Given the description of an element on the screen output the (x, y) to click on. 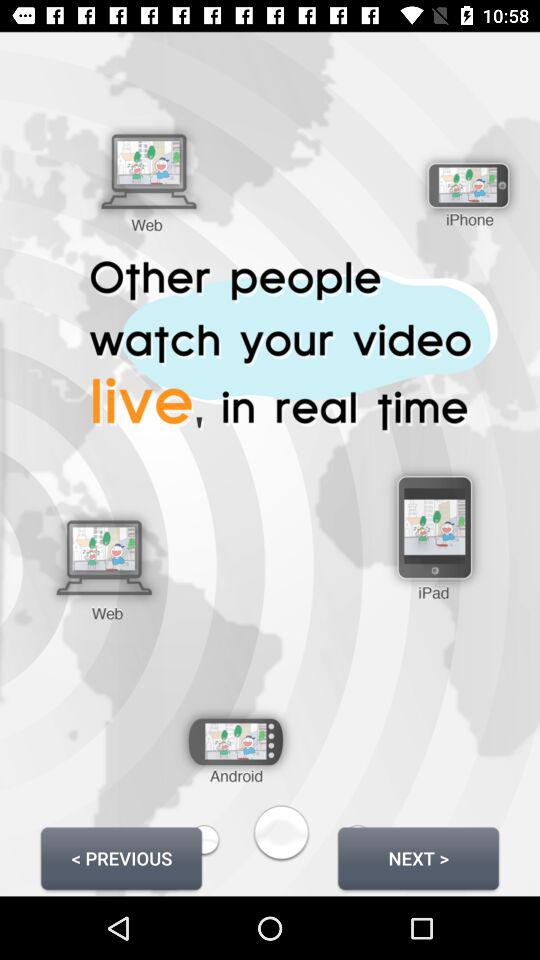
choose item next to the next > icon (121, 858)
